Given the description of an element on the screen output the (x, y) to click on. 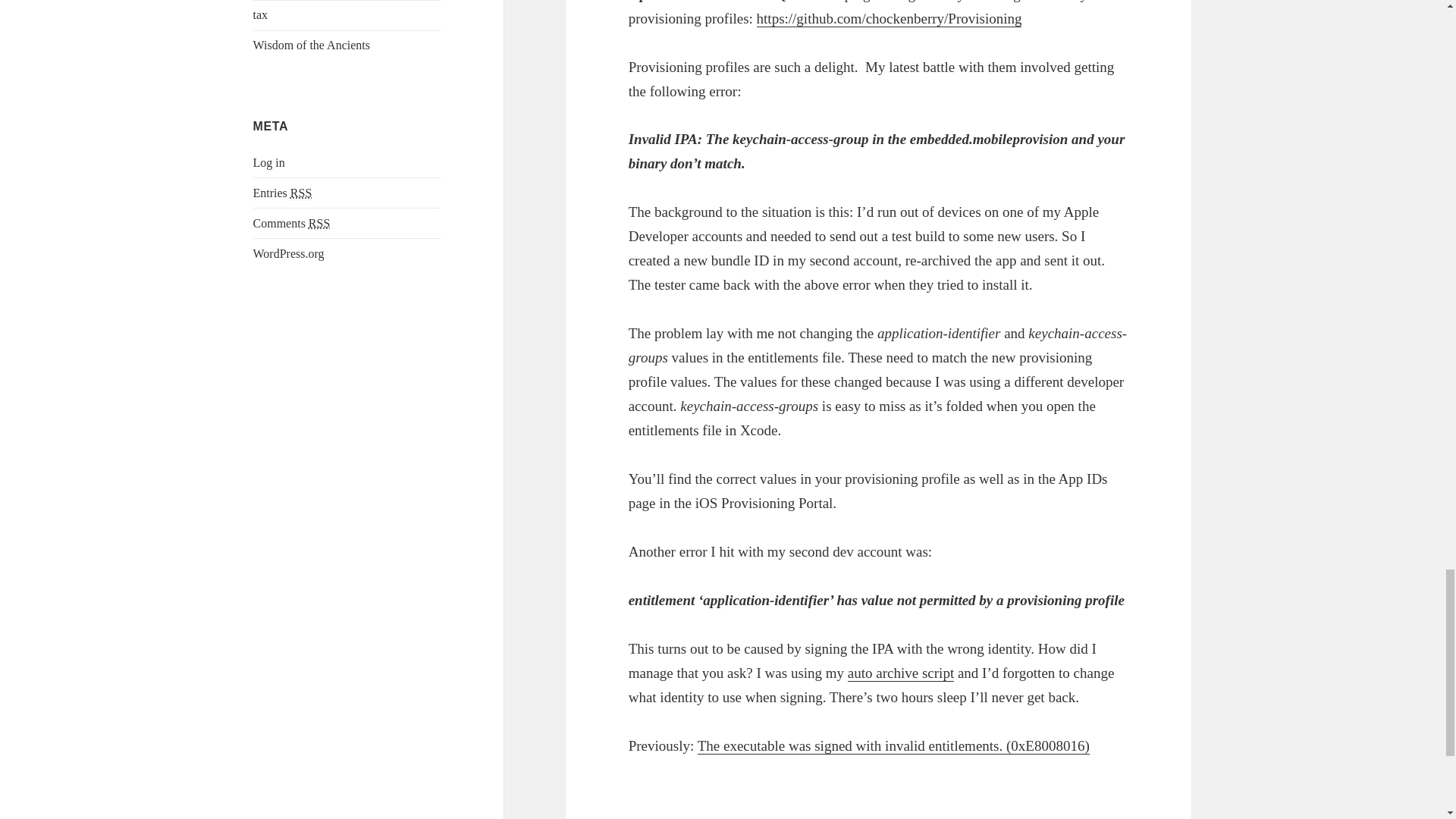
Really Simple Syndication (300, 192)
Really Simple Syndication (319, 223)
